Given the description of an element on the screen output the (x, y) to click on. 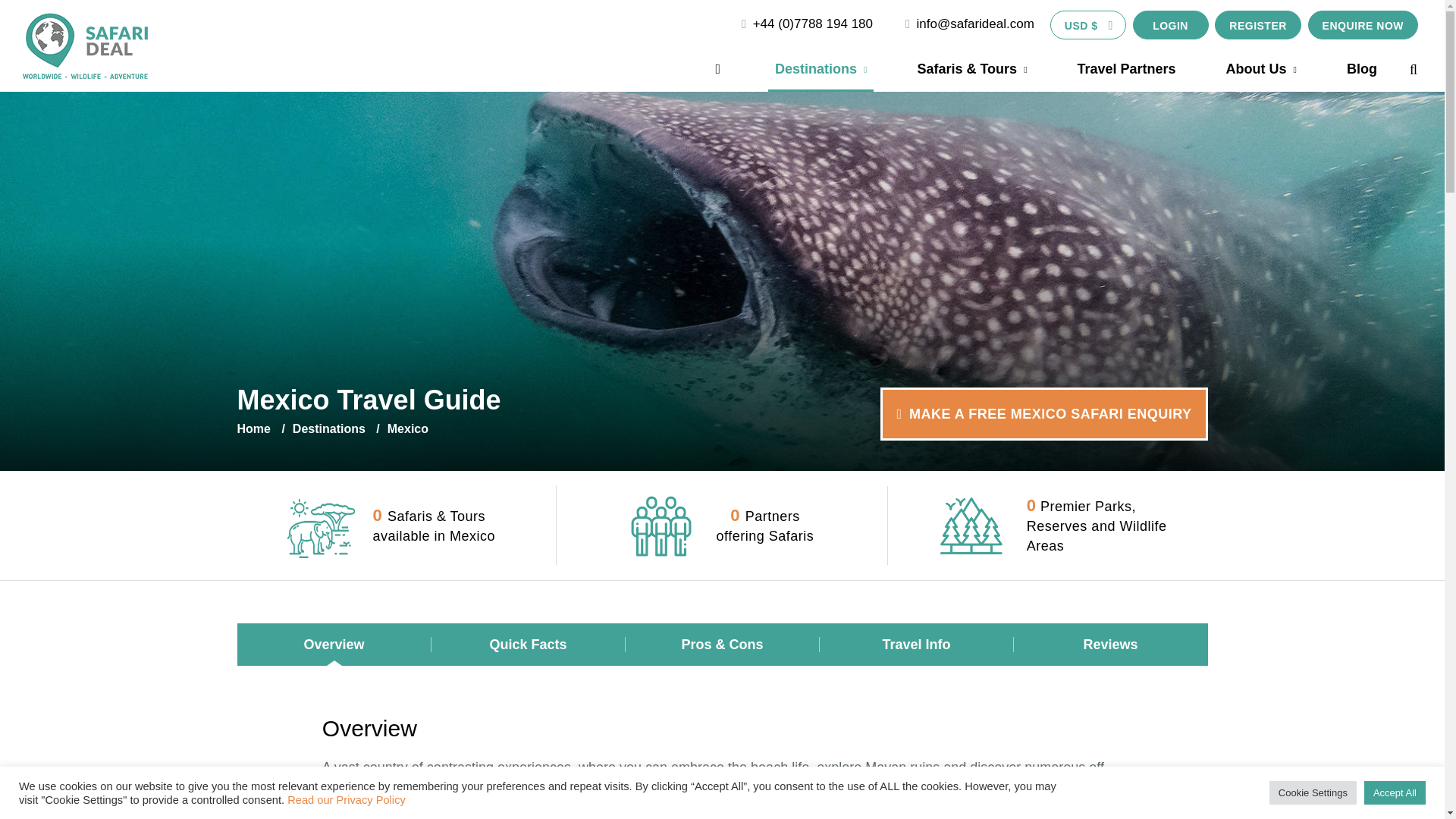
Register (1257, 24)
Destinations (820, 71)
Login (1170, 24)
Destinations (820, 71)
LOGIN (1170, 24)
ENQUIRE NOW (1362, 24)
REGISTER (1257, 24)
Safari Deal (85, 43)
